Given the description of an element on the screen output the (x, y) to click on. 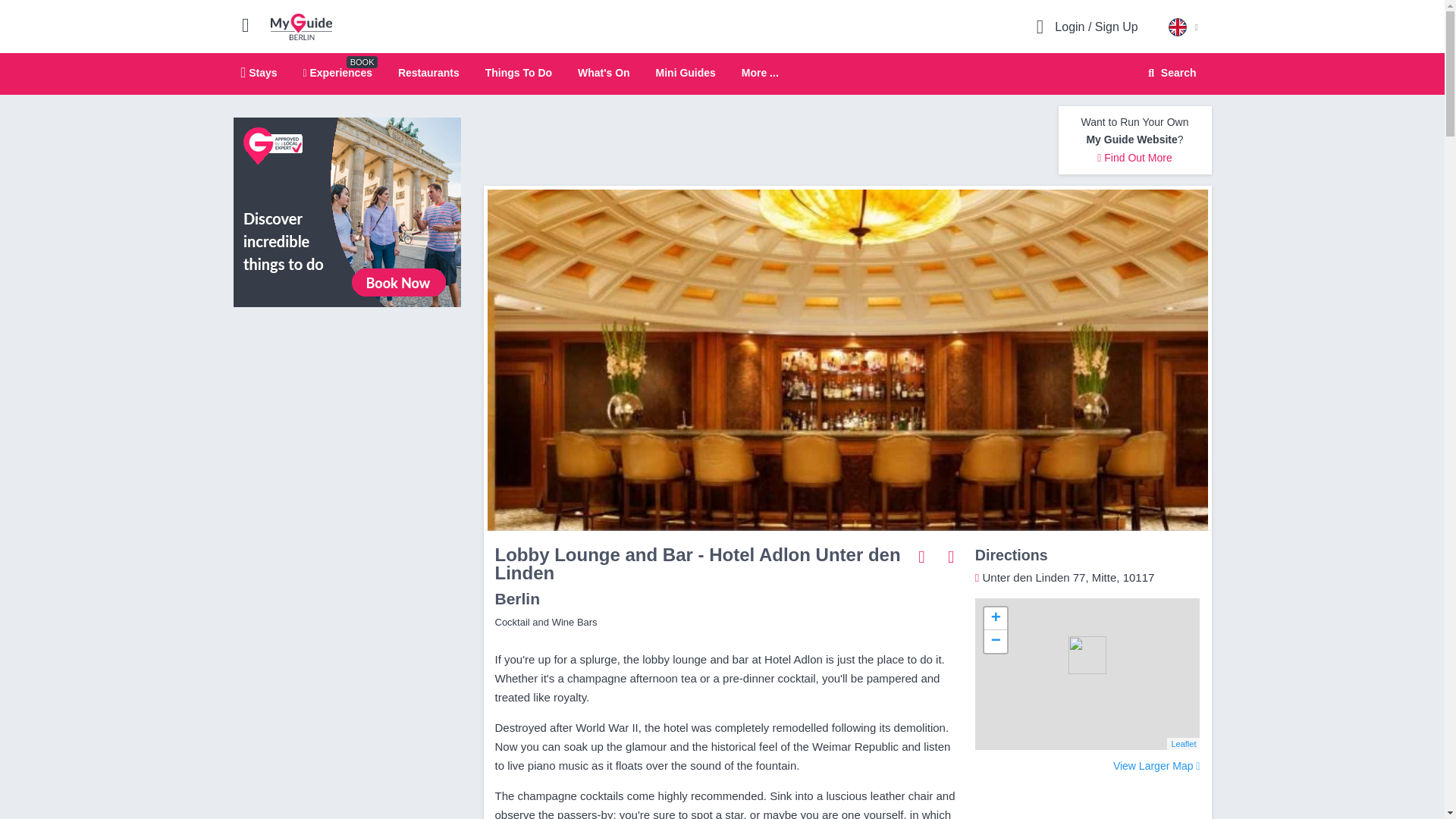
Zoom in (995, 618)
Stays (259, 72)
View All Experiences (346, 211)
Restaurants (428, 72)
Experiences (337, 72)
Mini Guides (686, 72)
Search (1169, 72)
A JS library for interactive maps (1182, 743)
What's On (604, 72)
Zoom out (995, 640)
Search Website (1170, 73)
My Guide Berlin (300, 25)
More ... (759, 72)
